Given the description of an element on the screen output the (x, y) to click on. 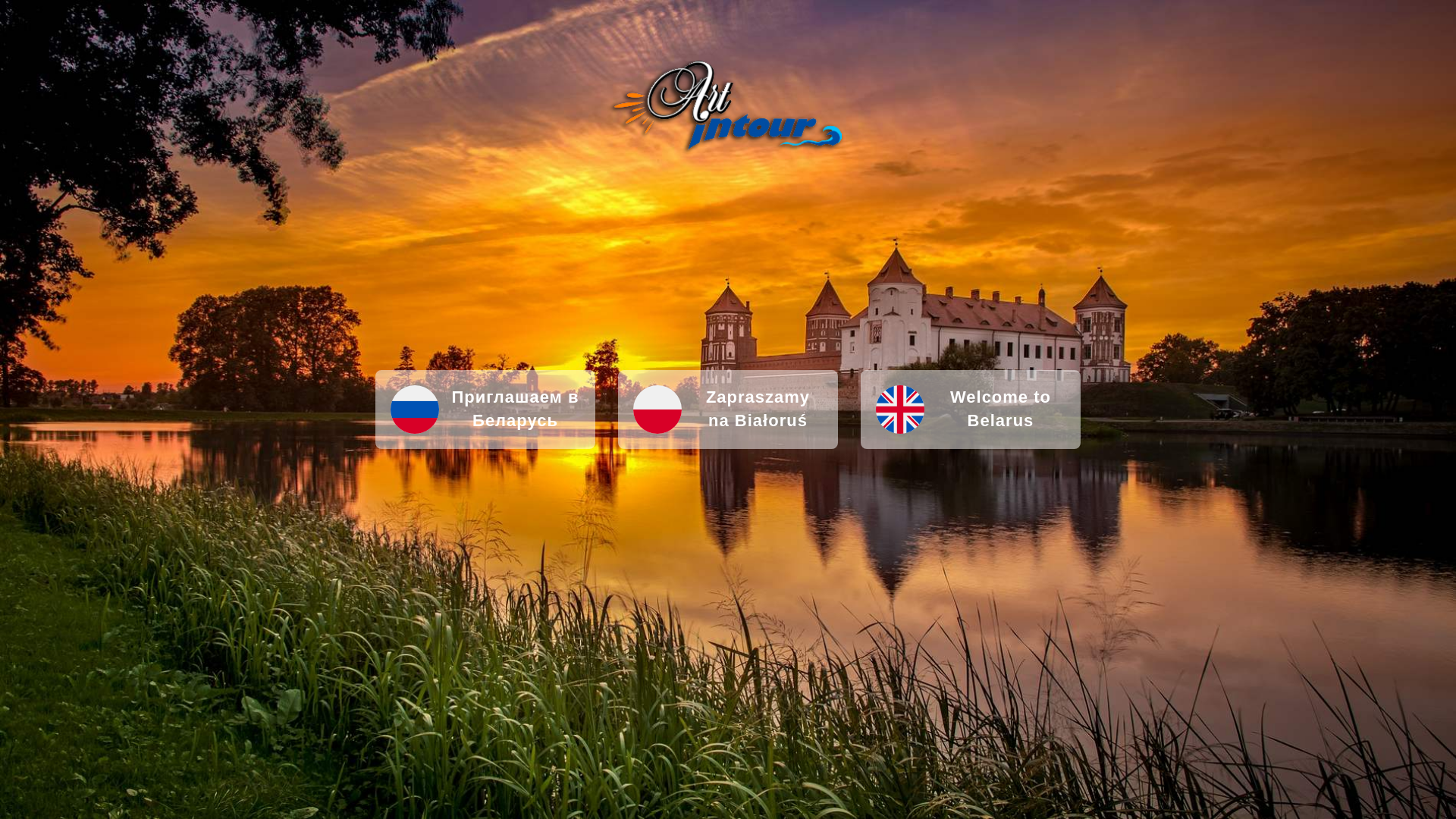
Welcome to Belarus Element type: text (970, 409)
